Given the description of an element on the screen output the (x, y) to click on. 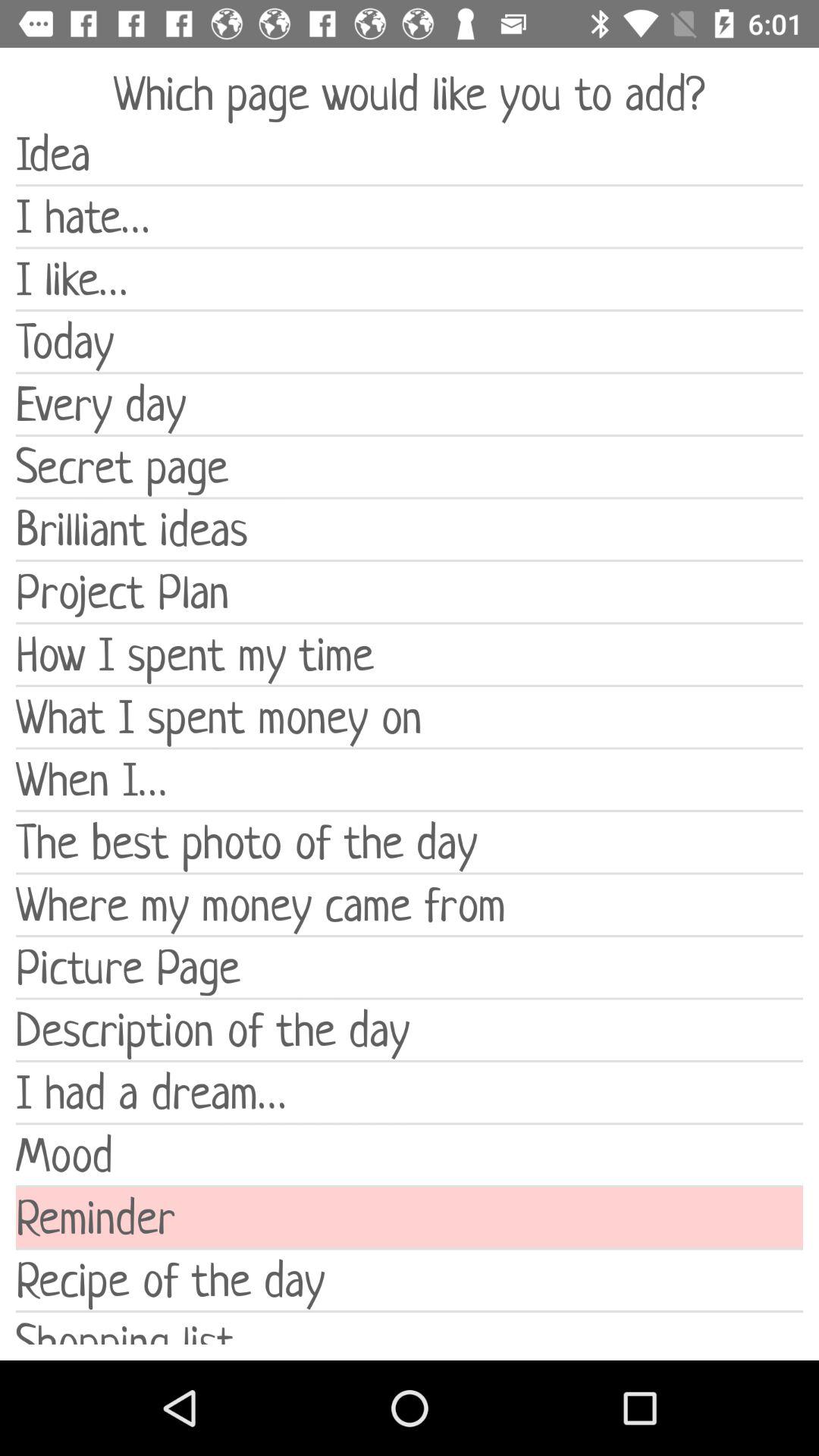
turn on the picture page (409, 967)
